Given the description of an element on the screen output the (x, y) to click on. 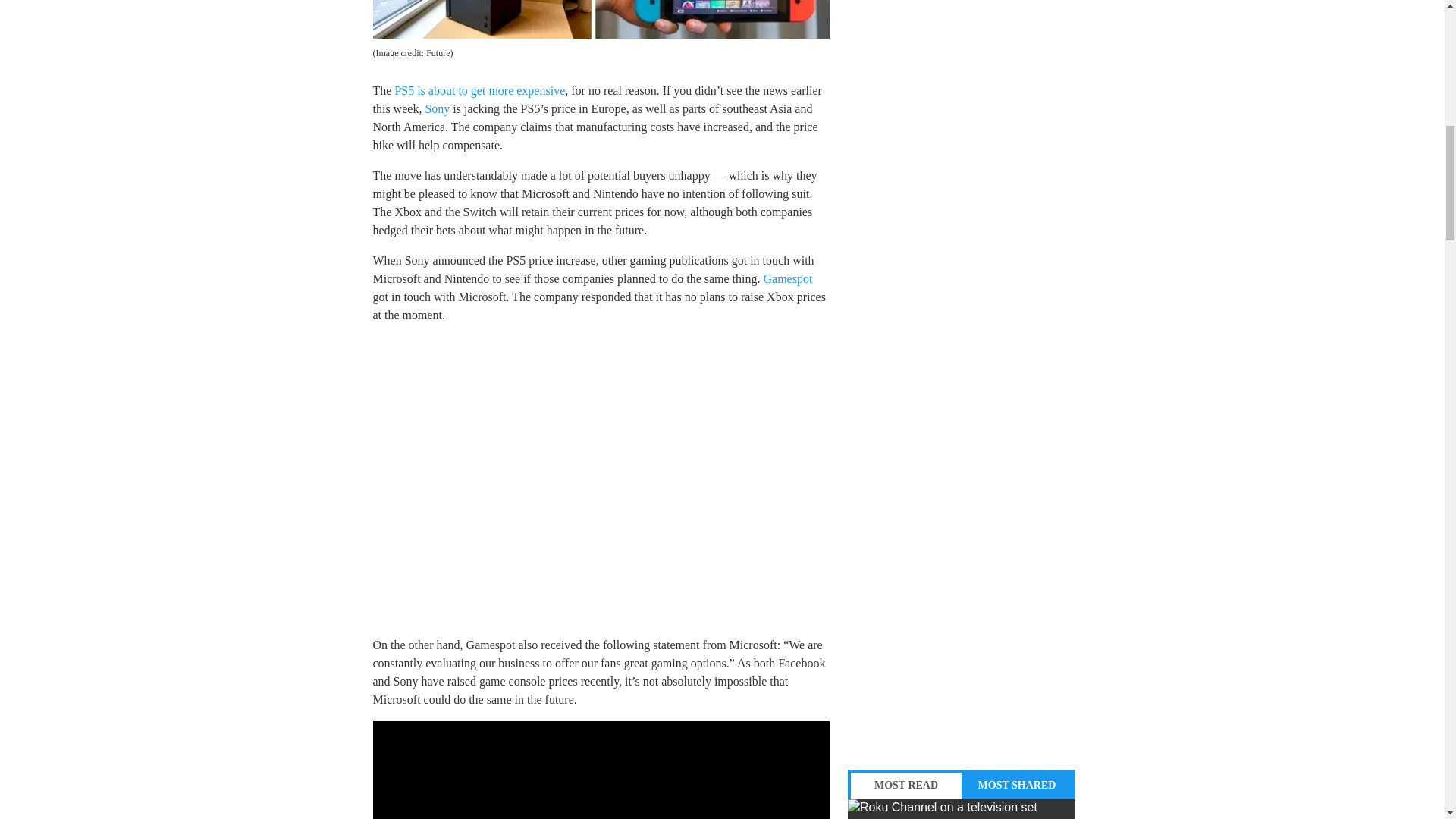
3 best free movies on the Roku Channel right now (961, 809)
